Given the description of an element on the screen output the (x, y) to click on. 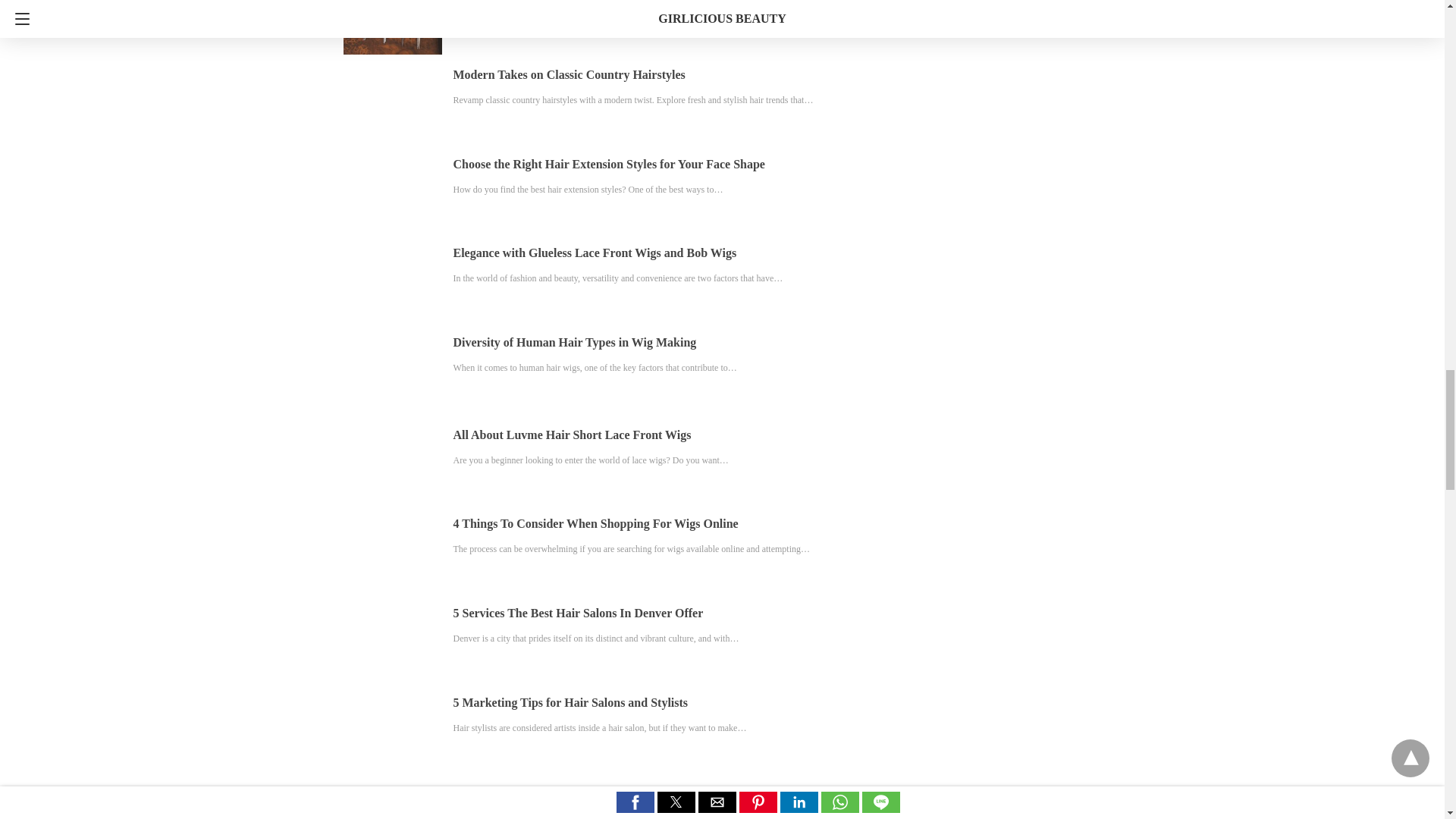
Choose the Right Hair Extension Styles for Your Face Shape (608, 164)
4 Things To Consider When Shopping For Wigs Online (595, 522)
Diversity of Human Hair Types in Wig Making (574, 341)
All About Luvme Hair Short Lace Front Wigs (571, 434)
5 Services The Best Hair Salons In Denver Offer (577, 612)
Choose the Right Hair Extension Styles for Your Face Shape (608, 164)
Elegance with Glueless Lace Front Wigs and Bob Wigs (594, 252)
5 Ways Keratin Hair Treatment can Benefit Your Hairs (595, 790)
Elegance with Glueless Lace Front Wigs and Bob Wigs (594, 252)
5 Marketing Tips for Hair Salons and Stylists (570, 702)
